Given the description of an element on the screen output the (x, y) to click on. 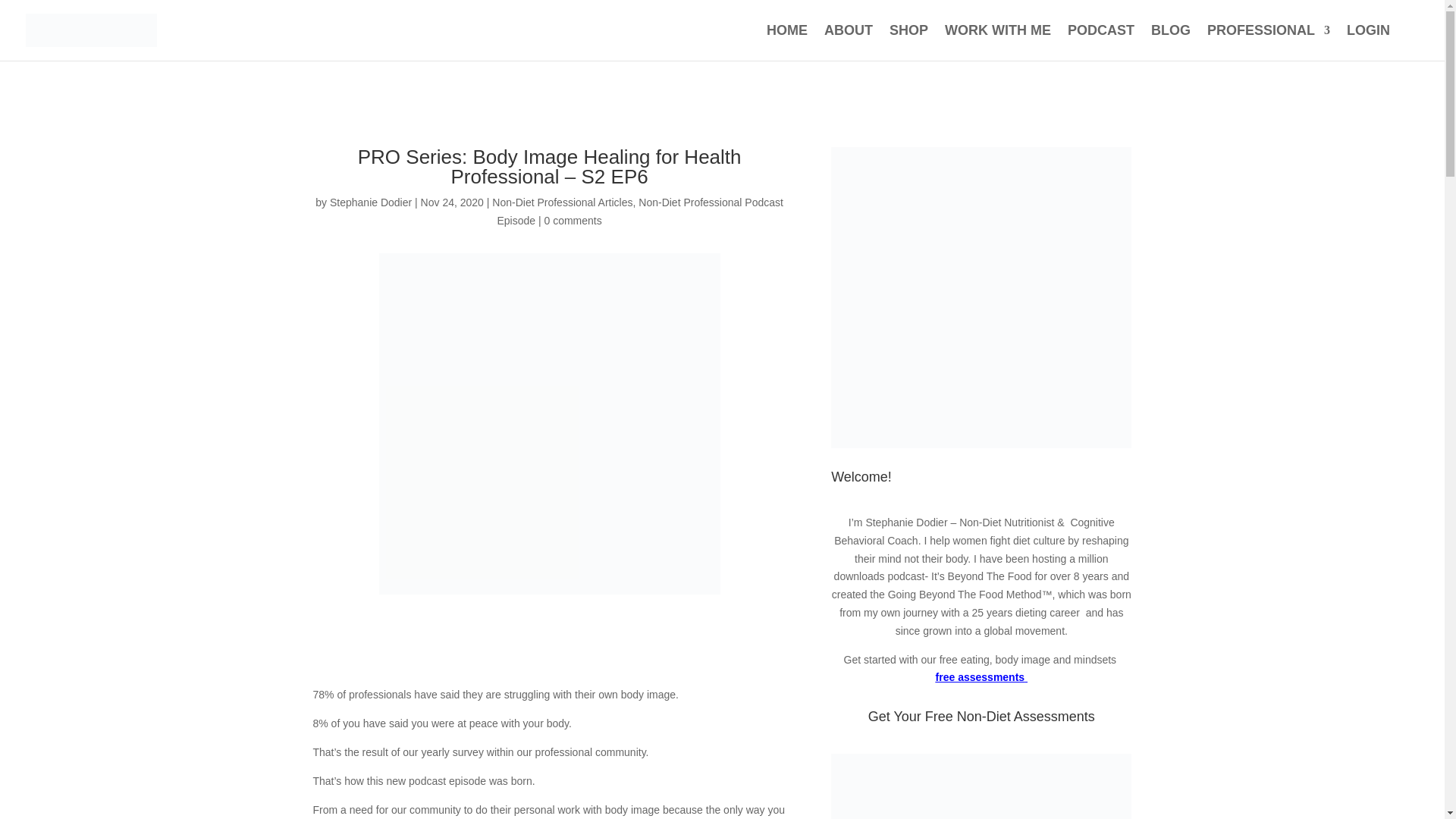
PROFESSIONAL (1268, 42)
Posts by Stephanie Dodier (371, 202)
SHOP (908, 42)
Non-Diet Professional Podcast Episode (639, 211)
0 comments (573, 220)
Stephanie Dodier (371, 202)
PODCAST (1100, 42)
LOGIN (1368, 42)
BLOG (1171, 42)
ABOUT (848, 42)
